Given the description of an element on the screen output the (x, y) to click on. 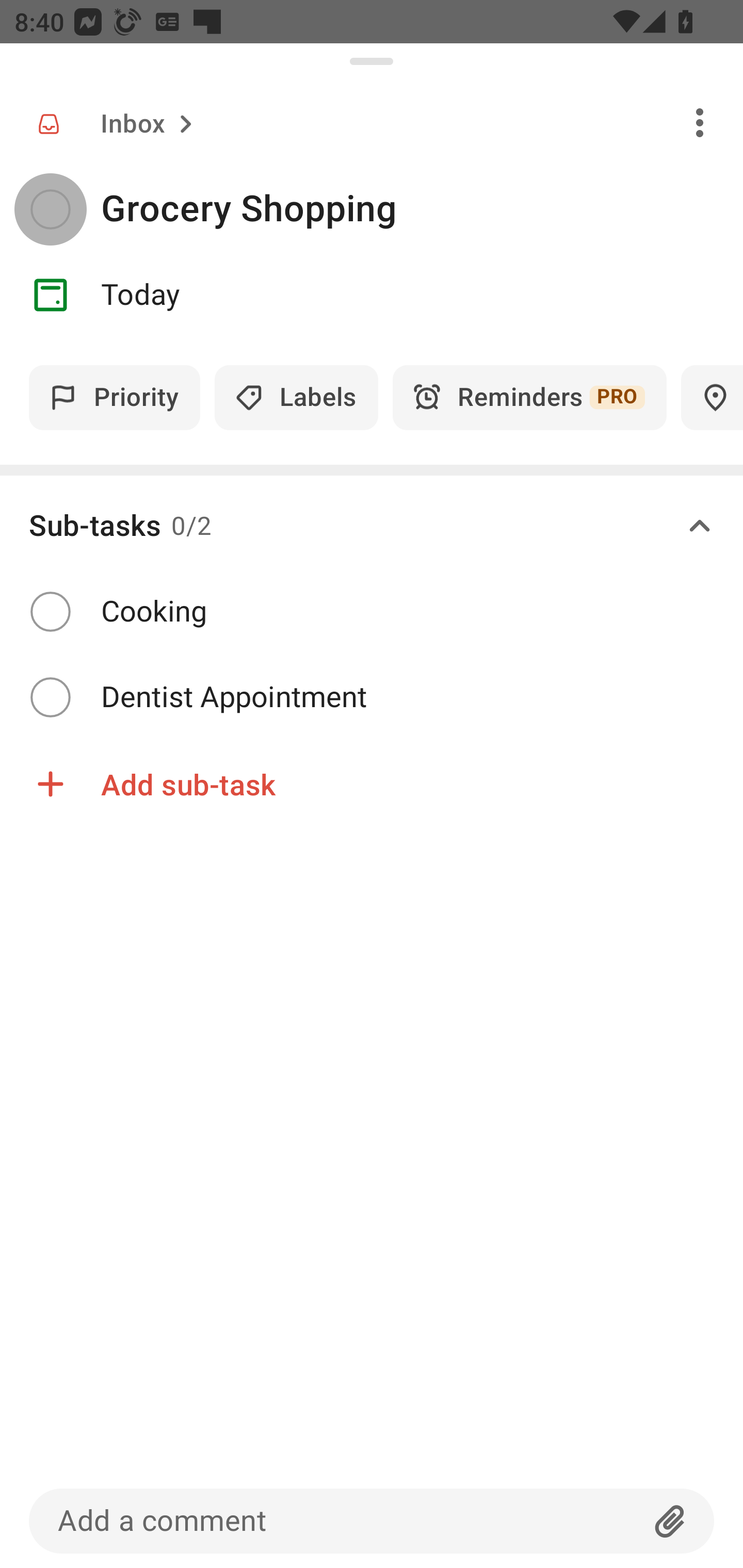
Overflow menu (699, 122)
Complete (50, 209)
Grocery Shopping​ (422, 209)
Date Today (371, 295)
Priority (113, 397)
Labels (296, 397)
Reminders PRO (529, 397)
Locations PRO (712, 397)
Sub-tasks 0/2 Expand/collapse (371, 525)
Expand/collapse (699, 525)
Complete Cooking (371, 612)
Complete (50, 611)
Complete Dentist Appointment (371, 697)
Complete (50, 697)
Add sub-task (371, 783)
Add a comment Attachment (371, 1520)
Attachment (670, 1520)
